Given the description of an element on the screen output the (x, y) to click on. 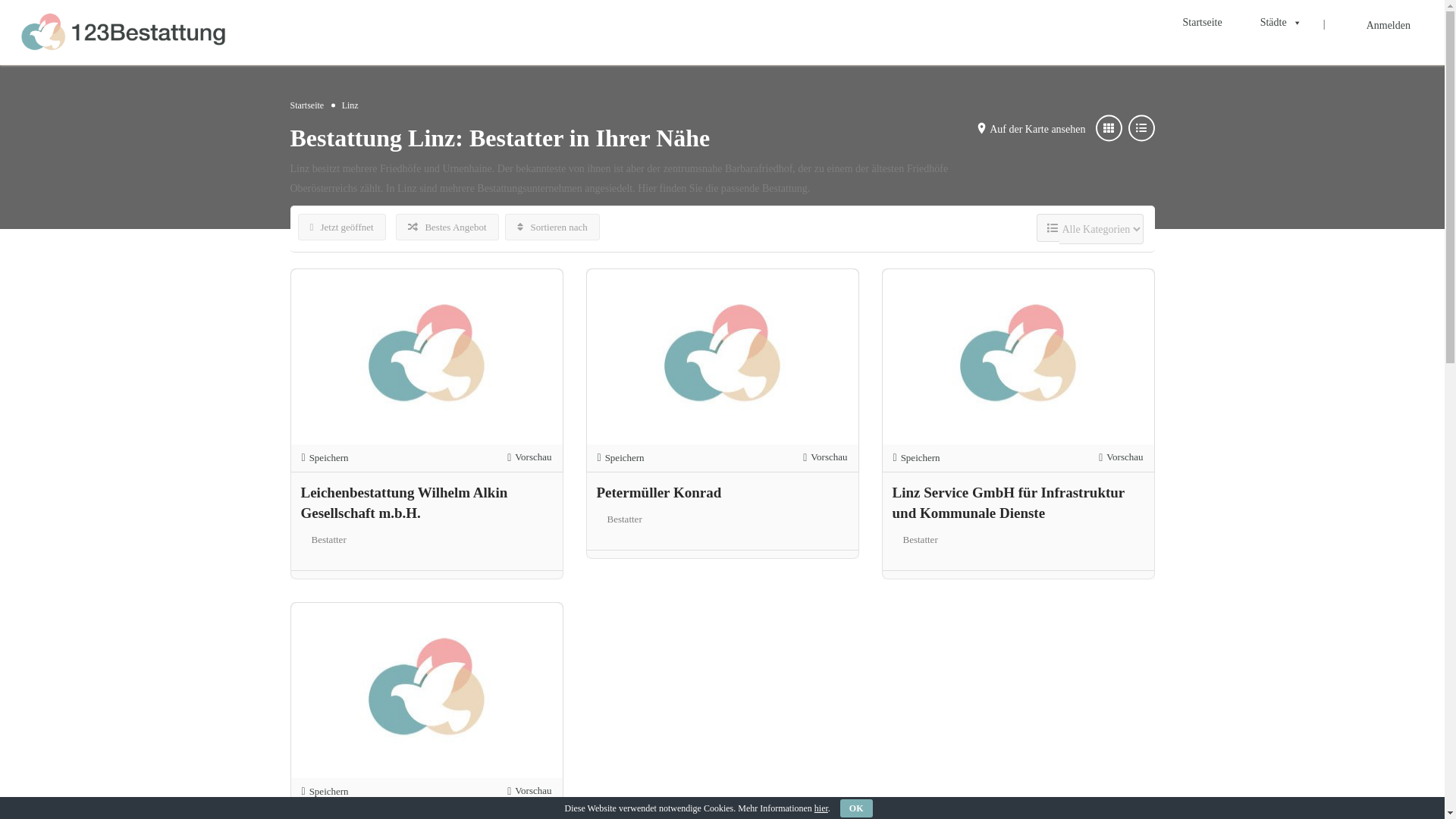
Bestatter Element type: text (919, 539)
Vorschau Element type: text (529, 790)
Bestes Angebot Element type: text (446, 226)
Startseite Element type: text (1202, 22)
Startseite Element type: text (306, 104)
Vorschau Element type: text (825, 457)
Speichern Element type: text (324, 791)
Speichern Element type: text (620, 457)
OK Element type: text (856, 808)
Sign in Element type: text (721, 464)
Speichern Element type: text (916, 457)
Vorschau Element type: text (529, 457)
Anmelden Element type: text (1388, 25)
Bestatter Element type: text (327, 539)
Bestatter Element type: text (623, 518)
Auf der Karte ansehen Element type: text (1037, 128)
Sortieren nach Element type: text (552, 226)
Leichenbestattung Wilhelm Alkin Gesellschaft m.b.H. Element type: text (403, 502)
hier Element type: text (821, 808)
Speichern Element type: text (324, 457)
Vorschau Element type: text (1120, 457)
